Given the description of an element on the screen output the (x, y) to click on. 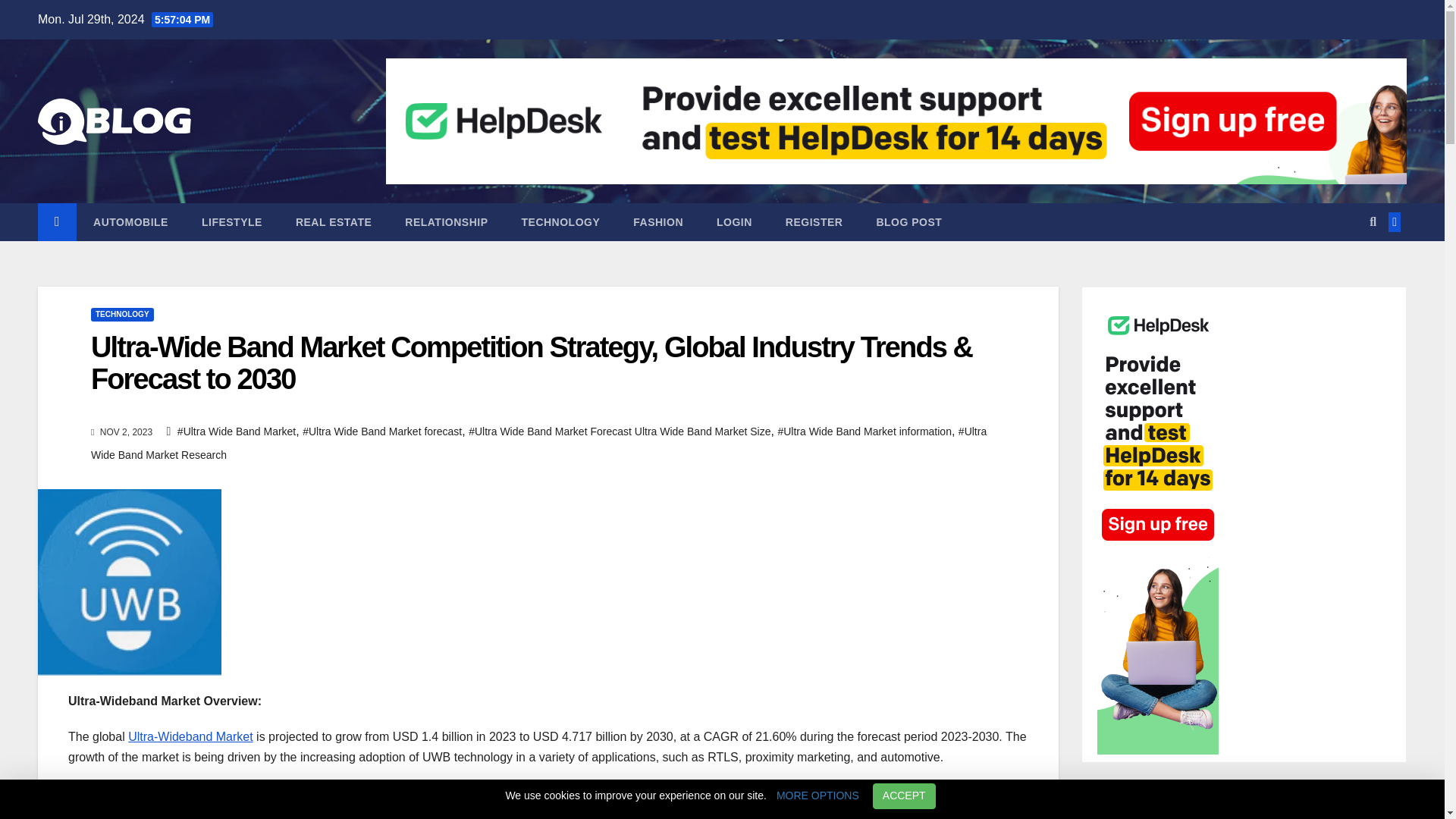
Technology (561, 221)
Login (734, 221)
LOGIN (734, 221)
Register (814, 221)
Ultra-Wideband Market (190, 736)
Automobile (130, 221)
TECHNOLOGY (561, 221)
Fashion (657, 221)
AUTOMOBILE (130, 221)
LIFESTYLE (231, 221)
BLOG POST (908, 221)
Real estate (333, 221)
REGISTER (814, 221)
Relationship (445, 221)
Blog post (908, 221)
